Given the description of an element on the screen output the (x, y) to click on. 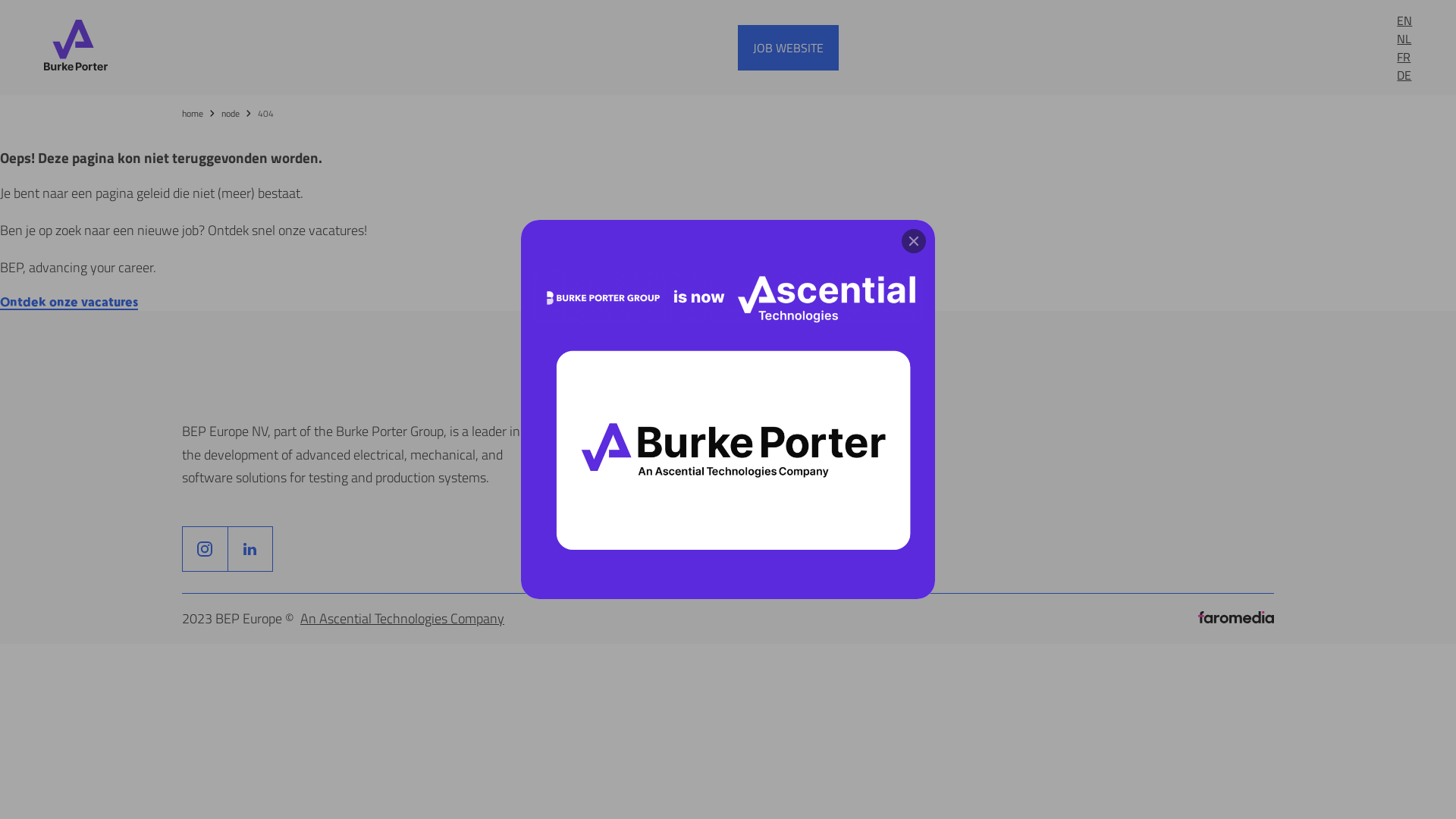
F Element type: text (250, 548)
Ontdek onze vacatures Element type: text (69, 303)
Skip to main content Element type: text (0, 0)
cookie notice Element type: text (829, 454)
disclaimer Element type: text (821, 430)
JOB WEBSITE Element type: text (787, 46)
FR Element type: text (1403, 56)
eu notice Element type: text (818, 477)
EN Element type: text (1404, 19)
F Element type: text (204, 548)
privacy policy Element type: text (830, 500)
NL Element type: text (1403, 37)
node Element type: text (237, 113)
home Element type: text (200, 113)
An Ascential Technologies Company Element type: text (402, 618)
DE Element type: text (1403, 74)
